Given the description of an element on the screen output the (x, y) to click on. 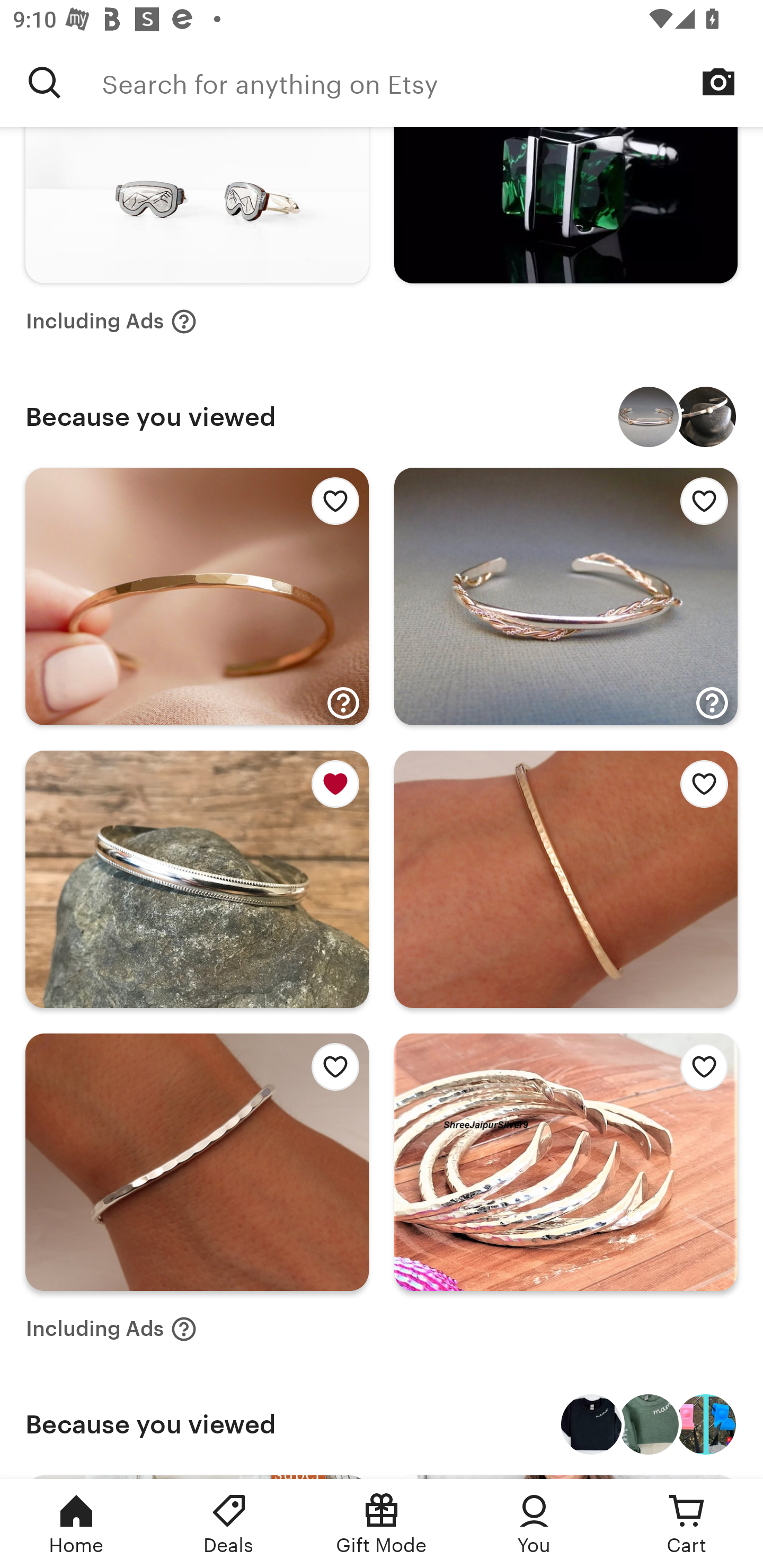
Search for anything on Etsy (44, 82)
Search by image (718, 81)
Search for anything on Etsy (432, 82)
Including Ads (111, 321)
Including Ads (111, 1328)
Deals (228, 1523)
Gift Mode (381, 1523)
You (533, 1523)
Cart (686, 1523)
